Given the description of an element on the screen output the (x, y) to click on. 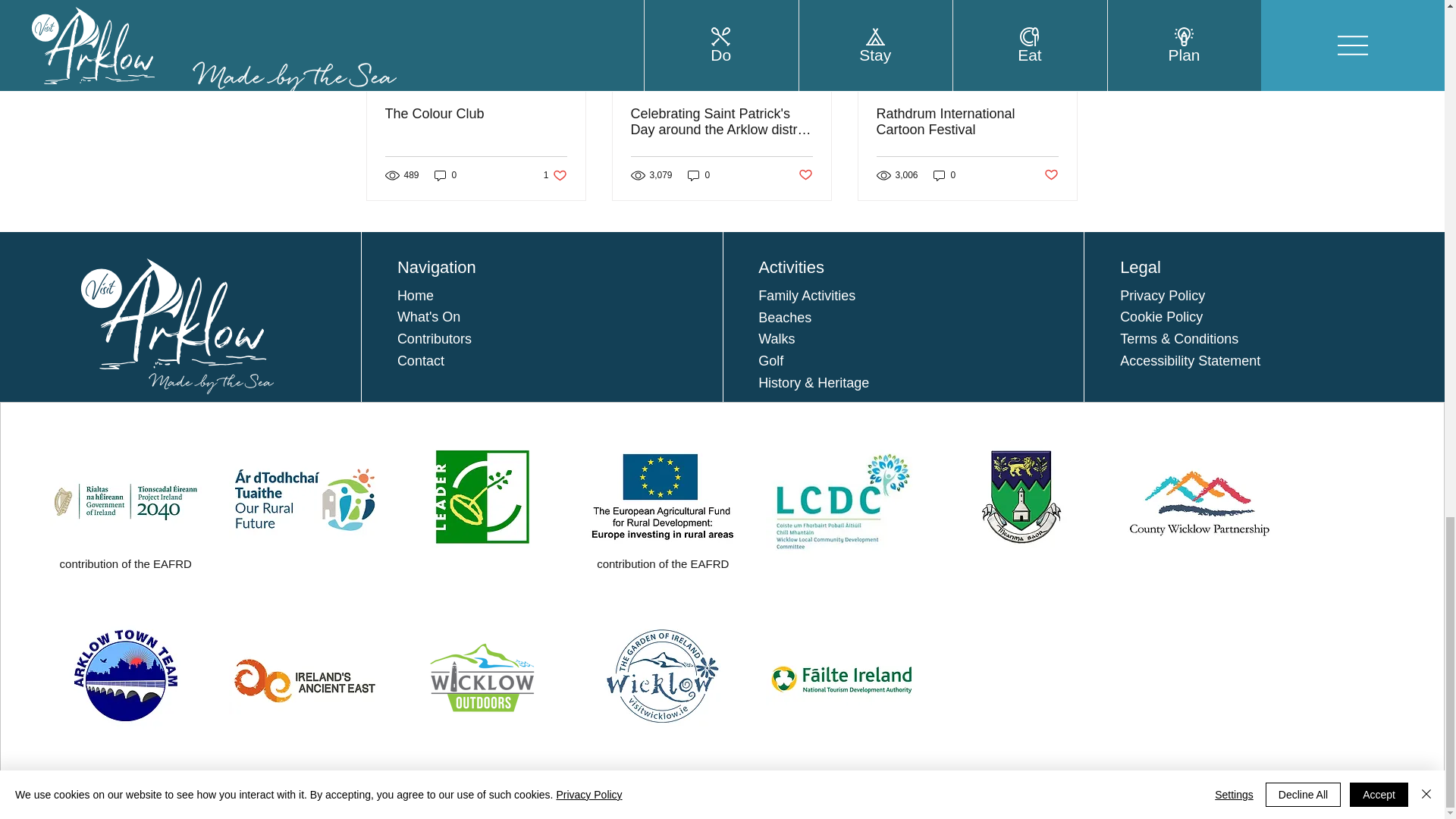
Rathdrum International Cartoon Festival (967, 122)
The Colour Club (476, 114)
0 (445, 174)
What's On (428, 316)
Contributors (434, 338)
Post not marked as liked (1050, 175)
Family Activities (807, 295)
Contact (420, 360)
0 (944, 174)
Home (415, 295)
